Given the description of an element on the screen output the (x, y) to click on. 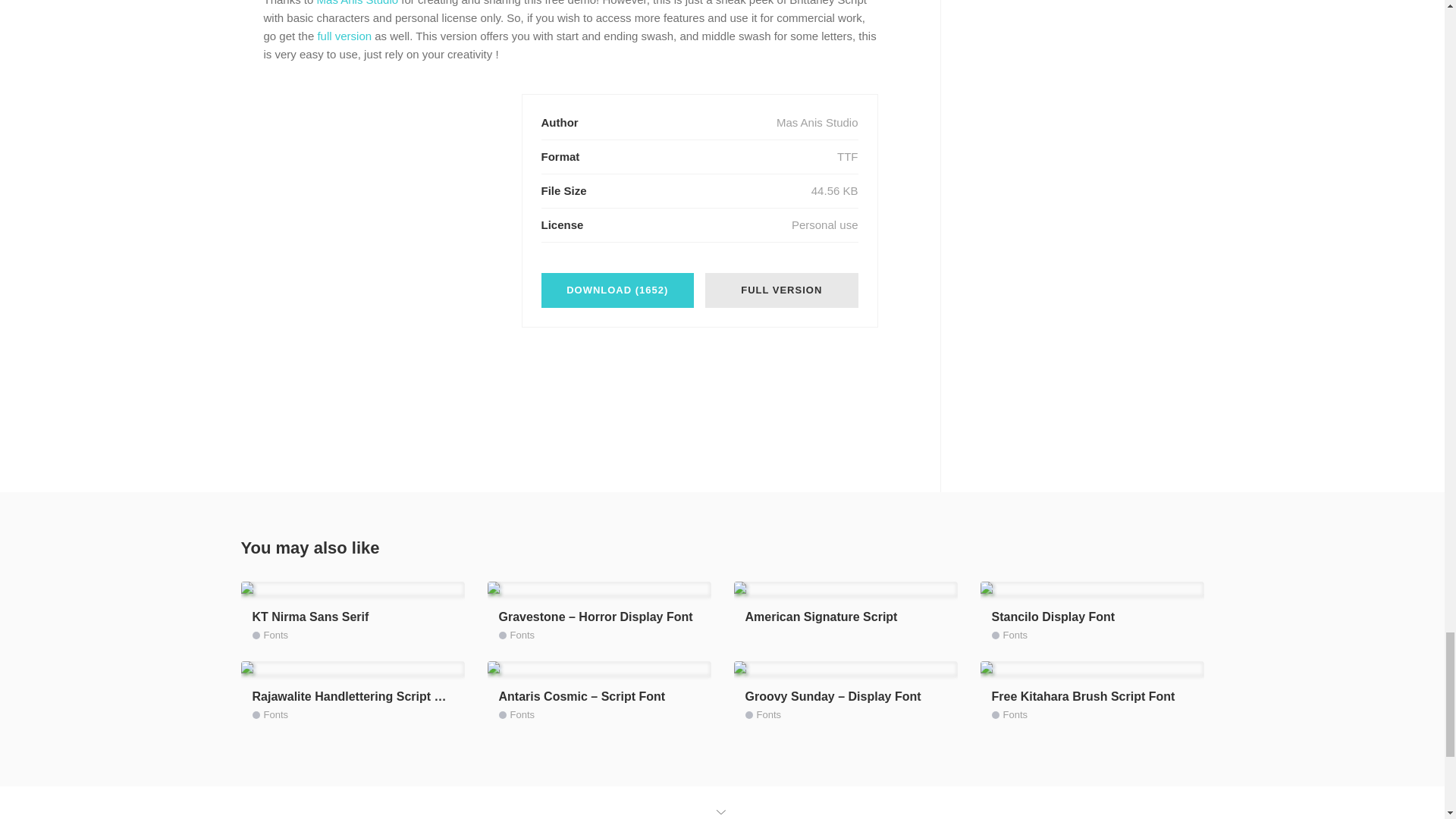
FULL VERSION (781, 289)
Mas Anis Studio (357, 2)
full version (344, 35)
